Given the description of an element on the screen output the (x, y) to click on. 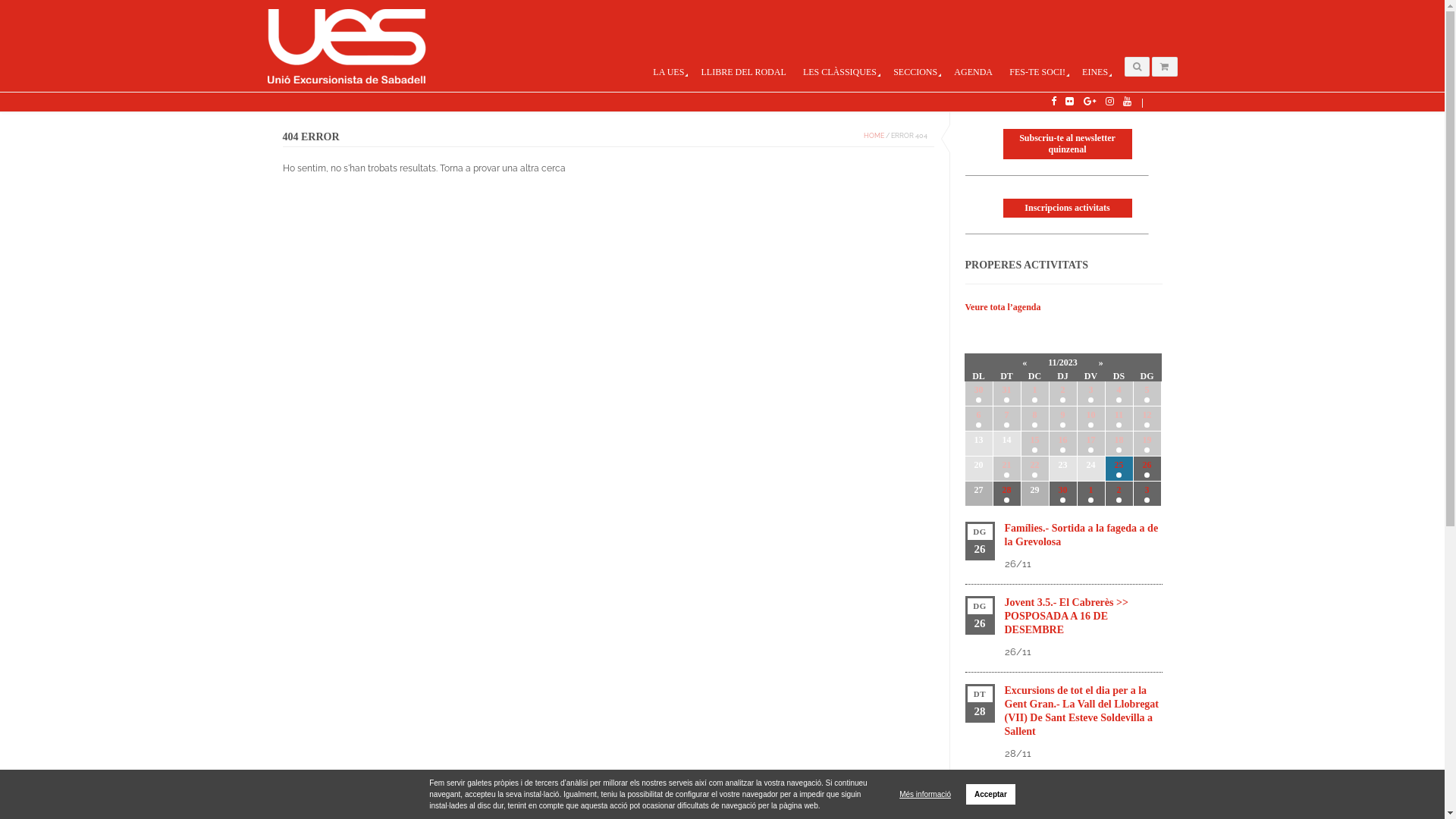
19 Element type: text (1146, 443)
Inscripcions activitats Element type: text (1066, 207)
6 Element type: text (977, 418)
AGENDA Element type: text (973, 72)
HOME Element type: text (872, 135)
10 Element type: text (1090, 418)
15 Element type: text (1034, 443)
21 Element type: text (1006, 468)
18 Element type: text (1118, 443)
3 Element type: text (1146, 493)
25 Element type: text (1118, 468)
Buscar Element type: text (1086, 136)
7 Element type: text (1006, 418)
EINES Element type: text (1094, 72)
12 Element type: text (1146, 418)
16 Element type: text (1062, 443)
FES-TE SOCI! Element type: text (1037, 72)
4 Element type: text (1118, 393)
22 Element type: text (1034, 468)
5 Element type: text (1146, 393)
28 Element type: text (1006, 493)
1 Element type: text (1090, 493)
Subscriu-te al newsletter quinzenal Element type: text (1066, 143)
9 Element type: text (1062, 418)
26 Element type: text (1146, 468)
17 Element type: text (1090, 443)
LA UES Element type: text (668, 72)
LLIBRE DEL RODAL Element type: text (743, 72)
3 Element type: text (1090, 393)
Acceptar Element type: text (990, 794)
11 Element type: text (1118, 418)
SECCIONS Element type: text (915, 72)
1 Element type: text (1034, 393)
2 Element type: text (1118, 493)
2 Element type: text (1062, 393)
8 Element type: text (1034, 418)
30 Element type: text (977, 393)
30 Element type: text (1062, 493)
31 Element type: text (1006, 393)
